Given the description of an element on the screen output the (x, y) to click on. 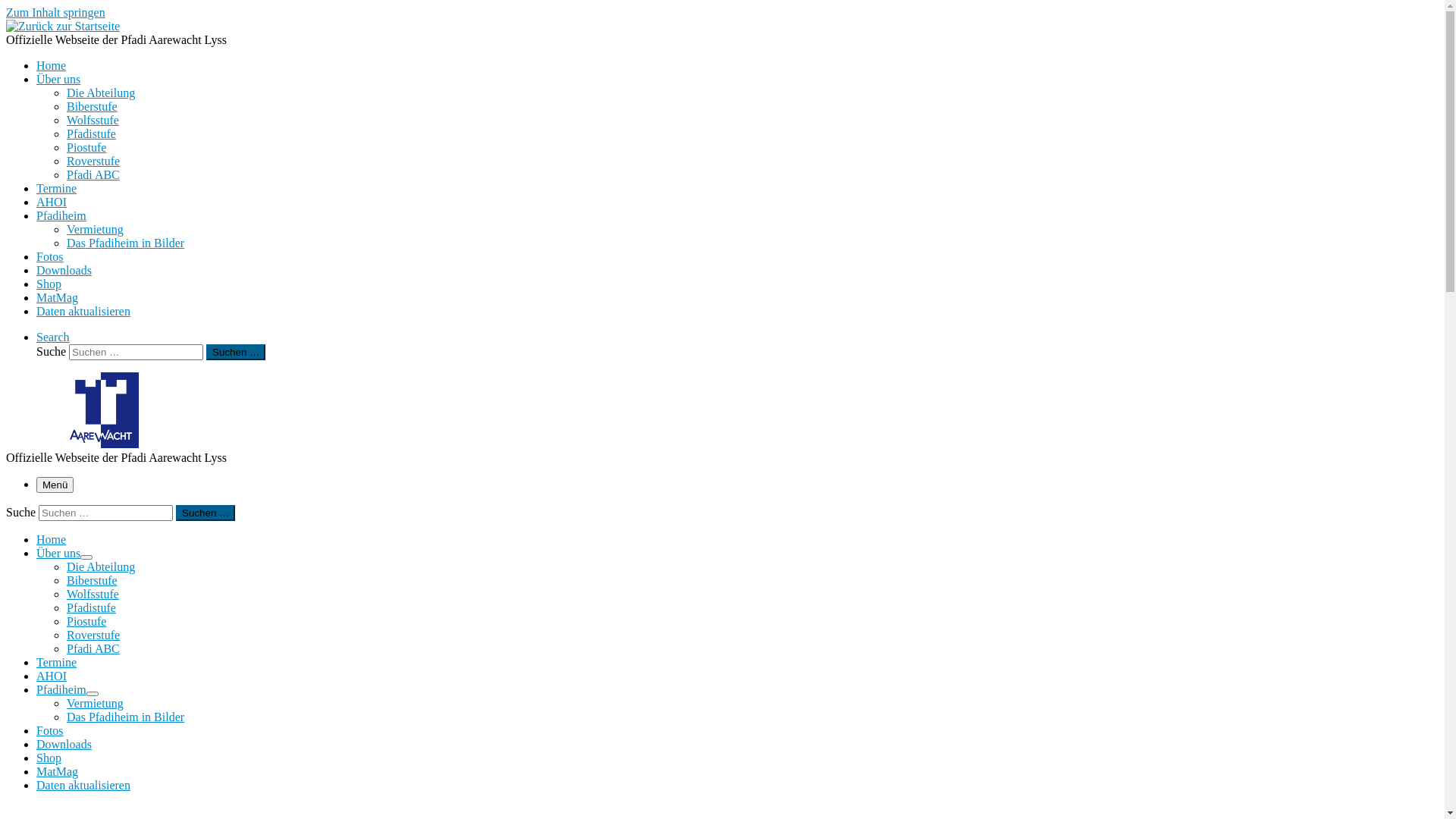
Termine Element type: text (56, 661)
Biberstufe Element type: text (91, 106)
AHOI Element type: text (51, 675)
Daten aktualisieren Element type: text (83, 310)
Das Pfadiheim in Bilder Element type: text (125, 716)
Pfadiheim Element type: text (61, 215)
Downloads Element type: text (63, 269)
Die Abteilung Element type: text (100, 92)
Fotos Element type: text (49, 256)
Wolfsstufe Element type: text (92, 593)
MatMag Element type: text (57, 771)
Pfadistufe Element type: text (91, 133)
Search Element type: text (52, 336)
Zum Inhalt springen Element type: text (55, 12)
Pfadi ABC Element type: text (92, 648)
Pfadistufe Element type: text (91, 607)
Vermietung Element type: text (94, 228)
AHOI Element type: text (51, 201)
Biberstufe Element type: text (91, 580)
Die Abteilung Element type: text (100, 566)
Das Pfadiheim in Bilder Element type: text (125, 242)
Piostufe Element type: text (86, 621)
Wolfsstufe Element type: text (92, 119)
Pfadiheim Element type: text (61, 689)
Shop Element type: text (48, 283)
Roverstufe Element type: text (92, 634)
Home Element type: text (50, 65)
Pfadi ABC Element type: text (92, 174)
Termine Element type: text (56, 188)
Vermietung Element type: text (94, 702)
Shop Element type: text (48, 757)
Daten aktualisieren Element type: text (83, 784)
Fotos Element type: text (49, 730)
Downloads Element type: text (63, 743)
Home Element type: text (50, 539)
Roverstufe Element type: text (92, 160)
Piostufe Element type: text (86, 147)
MatMag Element type: text (57, 297)
